Given the description of an element on the screen output the (x, y) to click on. 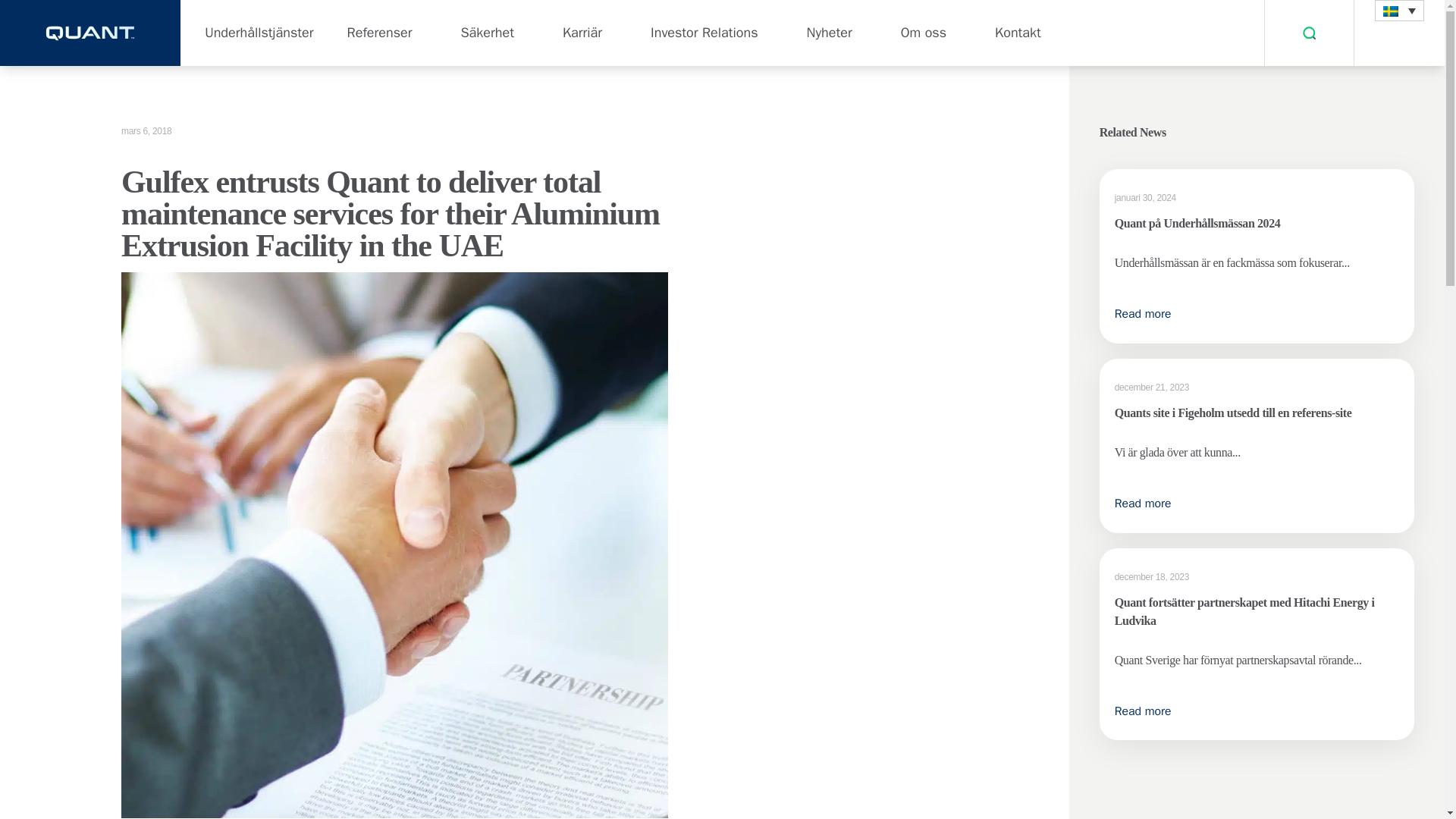
Kontakt (1018, 33)
Nyheter (829, 33)
Om oss (923, 33)
Investor Relations (704, 33)
Referenser (379, 33)
